Given the description of an element on the screen output the (x, y) to click on. 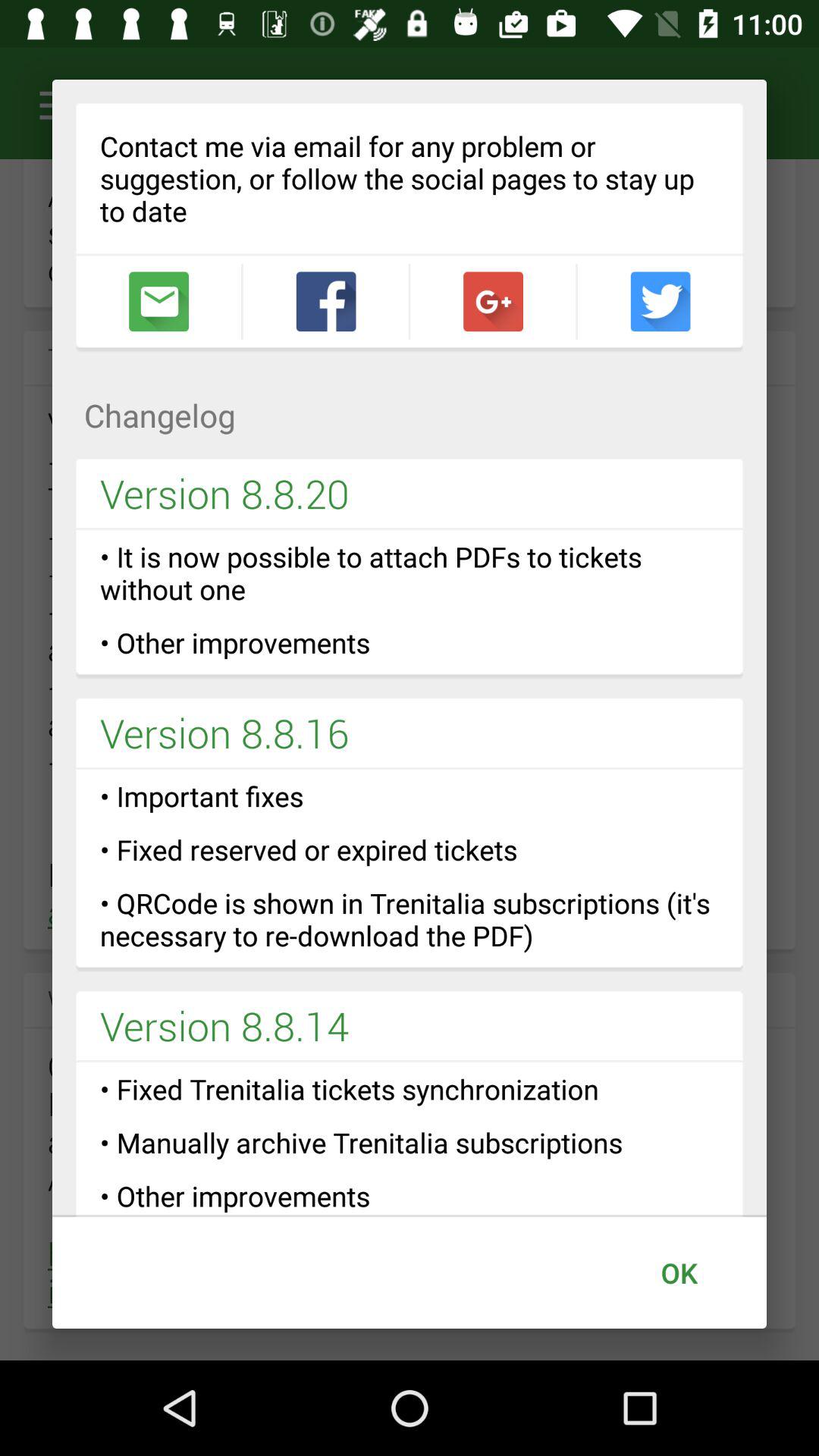
open twitter (659, 301)
